Given the description of an element on the screen output the (x, y) to click on. 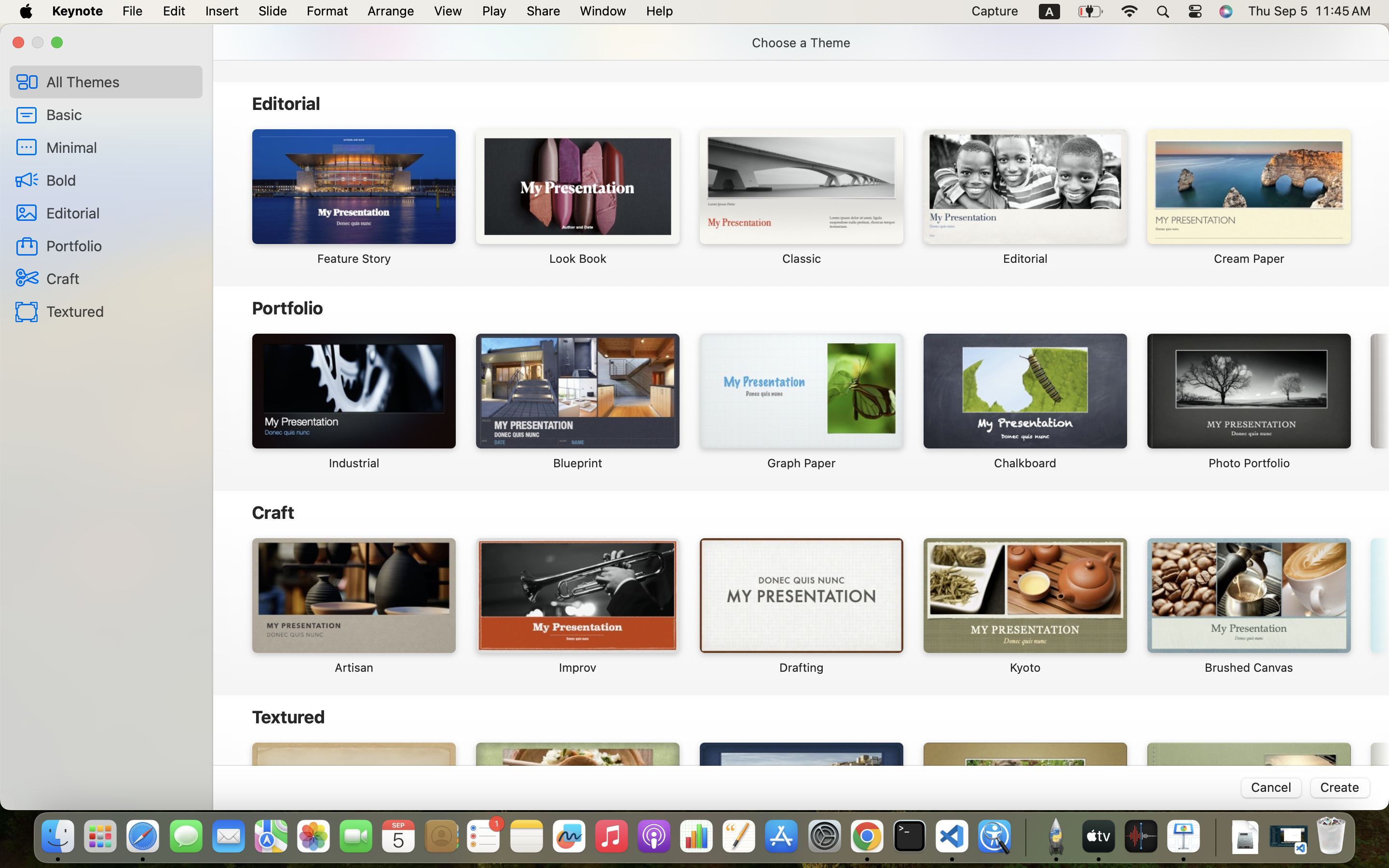
Minimal Element type: AXStaticText (120, 146)
Choose a Theme Element type: AXStaticText (800, 42)
Basic Element type: AXStaticText (120, 114)
All Themes Element type: AXStaticText (120, 81)
